Given the description of an element on the screen output the (x, y) to click on. 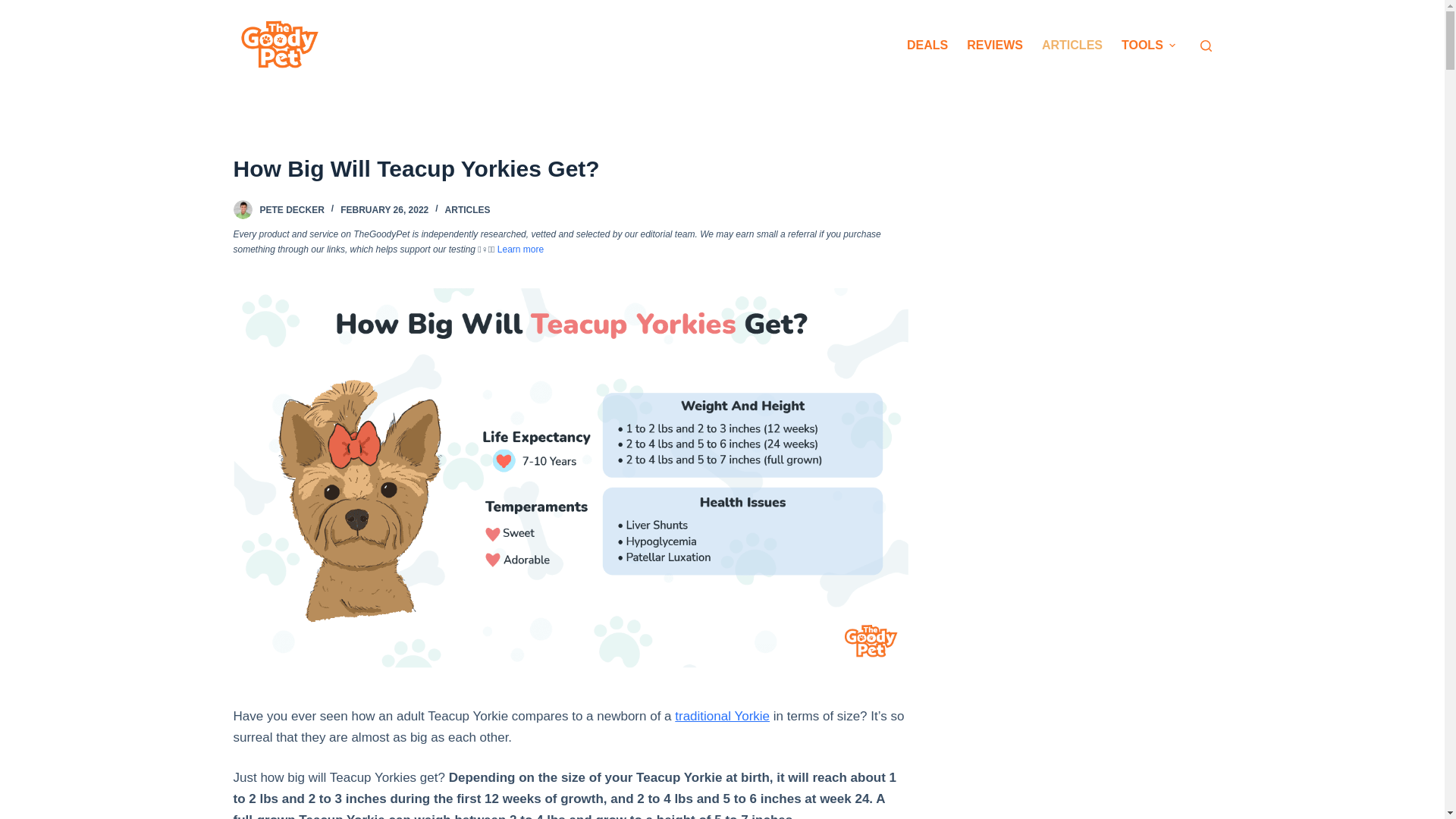
Skip to content (15, 7)
How Big Will Teacup Yorkies Get? (570, 168)
Posts by Pete Decker (291, 209)
